Given the description of an element on the screen output the (x, y) to click on. 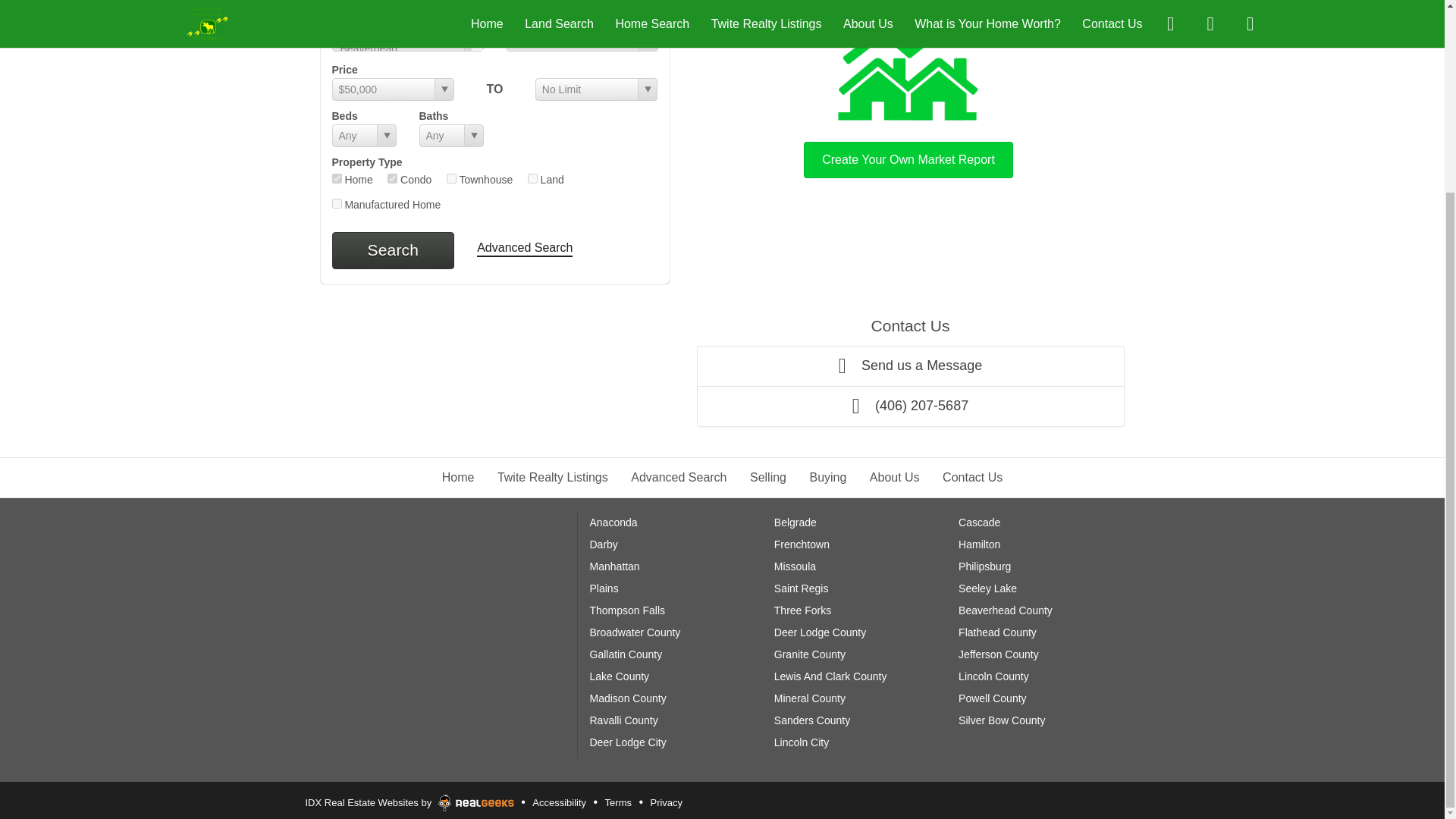
Anaconda (613, 522)
Advanced Search (524, 248)
Send us a Message (909, 365)
Buying (827, 477)
Twite Realty Listings (552, 477)
Philipsburg (984, 566)
Contact Us (972, 477)
Selling (767, 477)
Search (392, 249)
Advanced Search (678, 477)
